Given the description of an element on the screen output the (x, y) to click on. 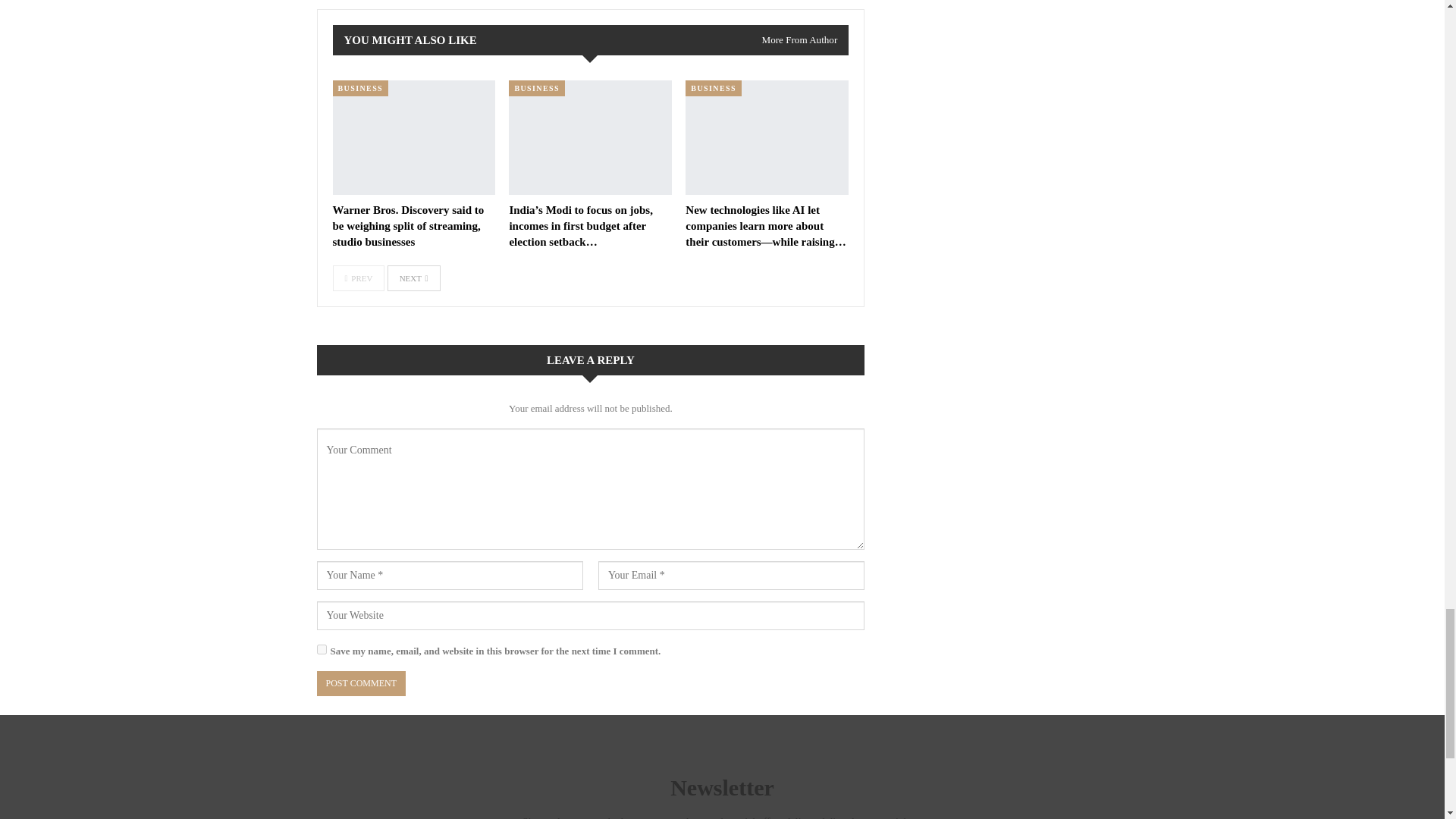
yes (321, 649)
Post Comment (361, 683)
